Given the description of an element on the screen output the (x, y) to click on. 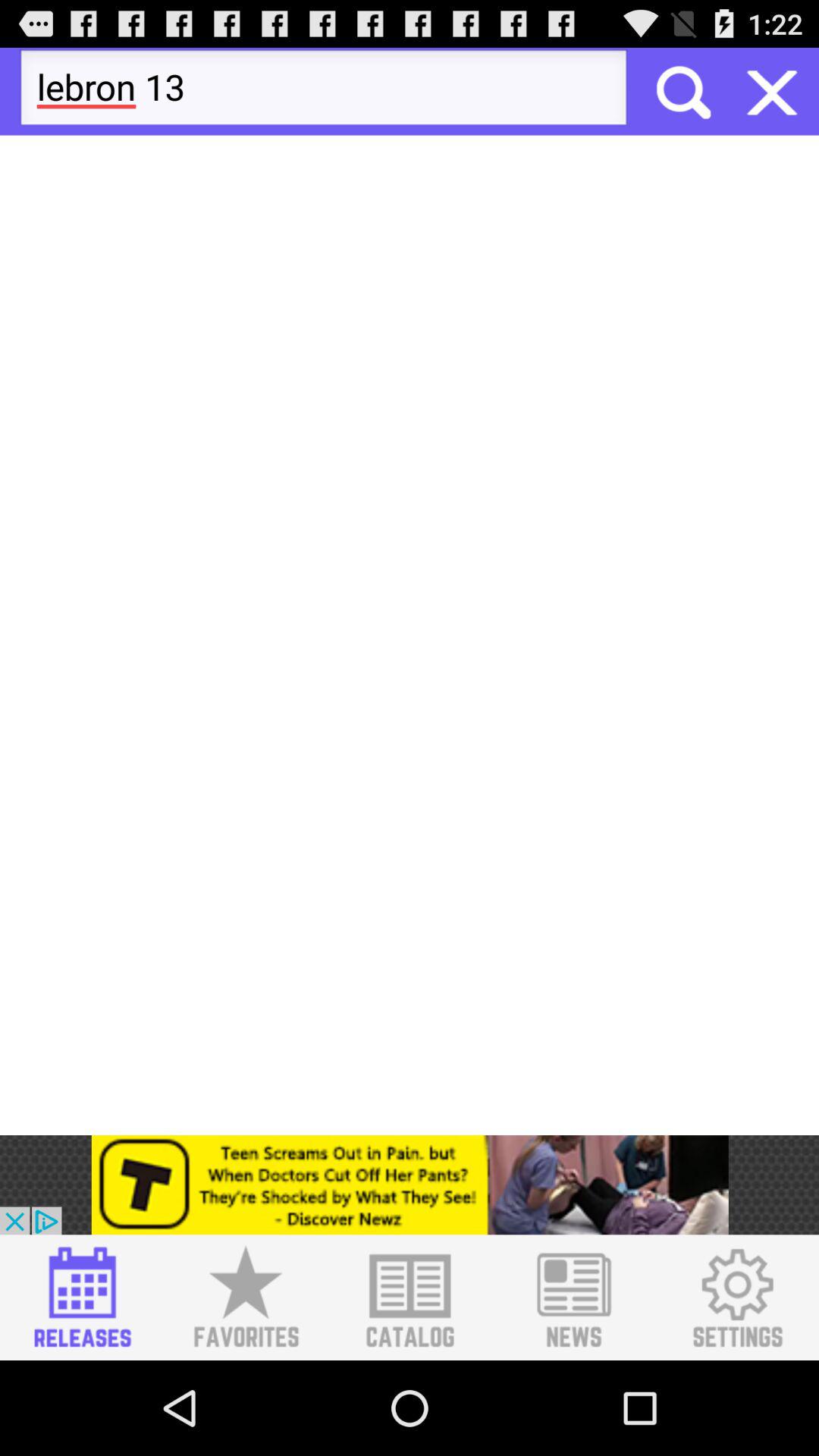
go to releases (81, 1297)
